Given the description of an element on the screen output the (x, y) to click on. 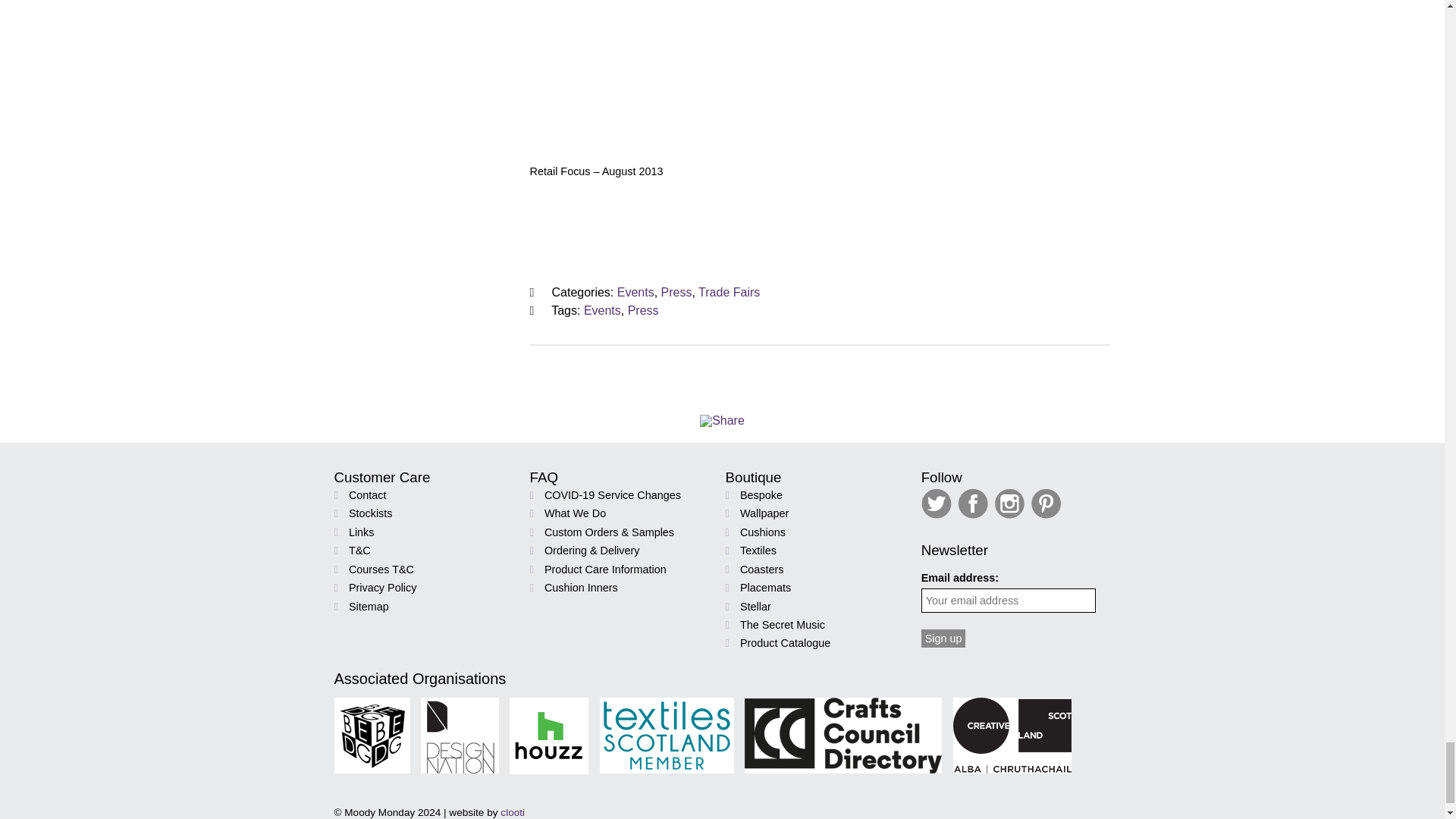
opens in a new window (1010, 514)
Sign up (943, 638)
opens in a new window (974, 514)
British European Design Group (371, 735)
opens in a new window (1047, 514)
Retail Focus - August 2013 (820, 76)
Sitemap (368, 606)
opens in a new window (938, 514)
